Given the description of an element on the screen output the (x, y) to click on. 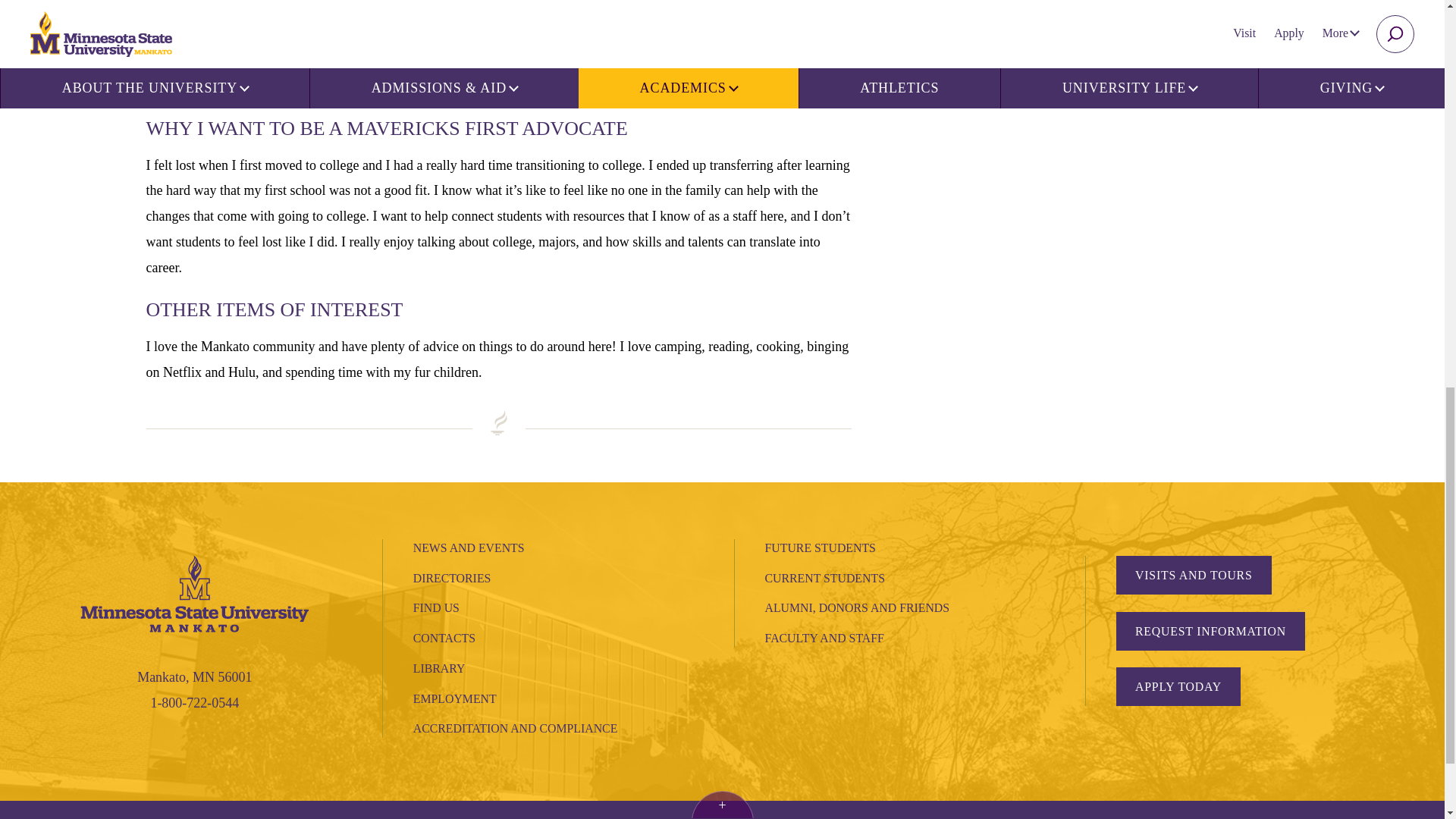
Minnesota State University, Mankato (194, 591)
Request Information (1210, 630)
Visit Campus (1193, 575)
